Given the description of an element on the screen output the (x, y) to click on. 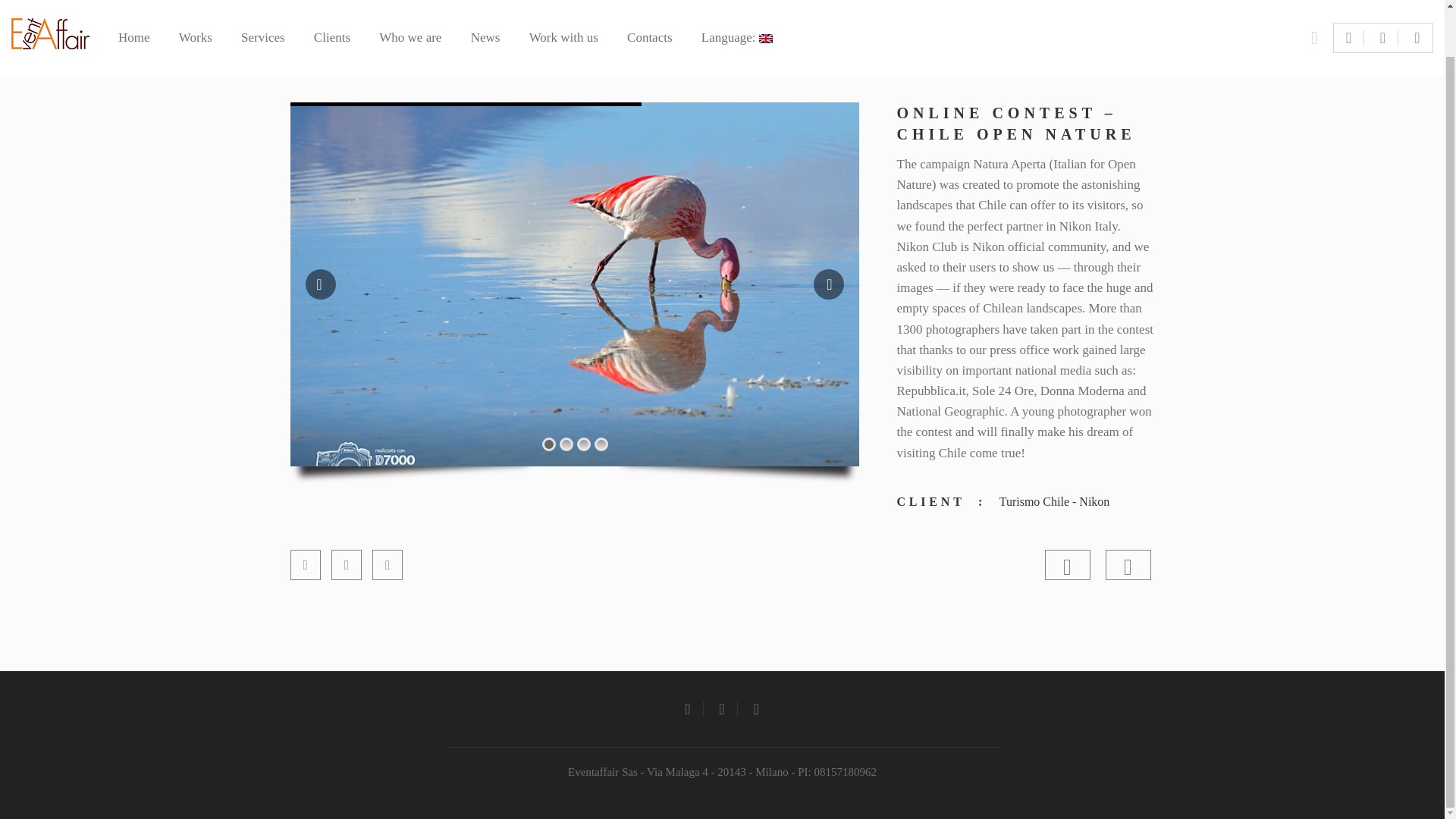
News (485, 2)
Work with us (563, 2)
Clients (332, 2)
Works (195, 2)
Language:  (737, 2)
Home (133, 2)
Who we are (409, 2)
Contacts (649, 2)
English (737, 2)
Services (263, 2)
